Given the description of an element on the screen output the (x, y) to click on. 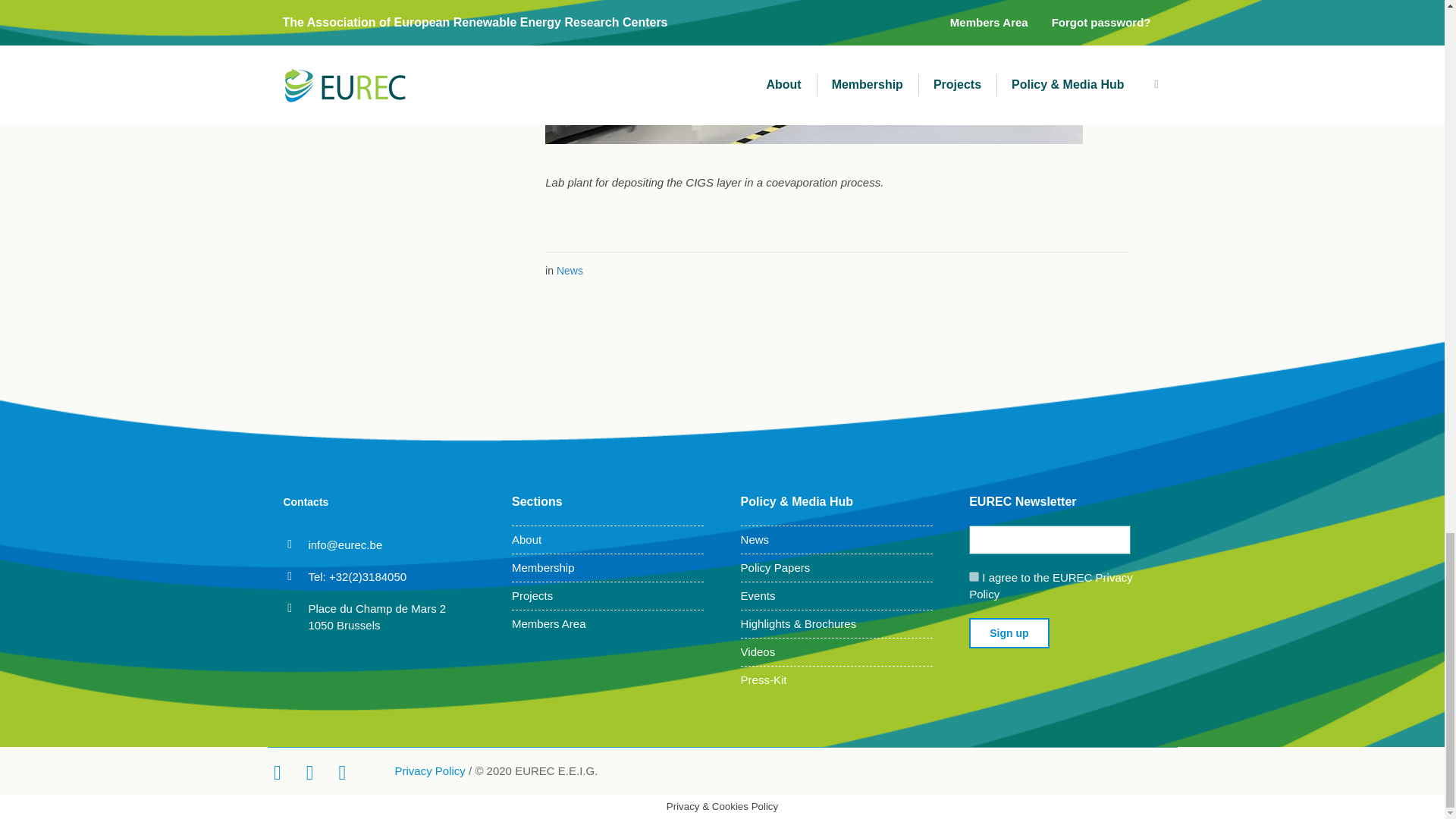
News (569, 270)
YouTube (339, 771)
LinkedIn (306, 771)
1 (973, 576)
Twitter (274, 771)
Sign up (1008, 633)
